Given the description of an element on the screen output the (x, y) to click on. 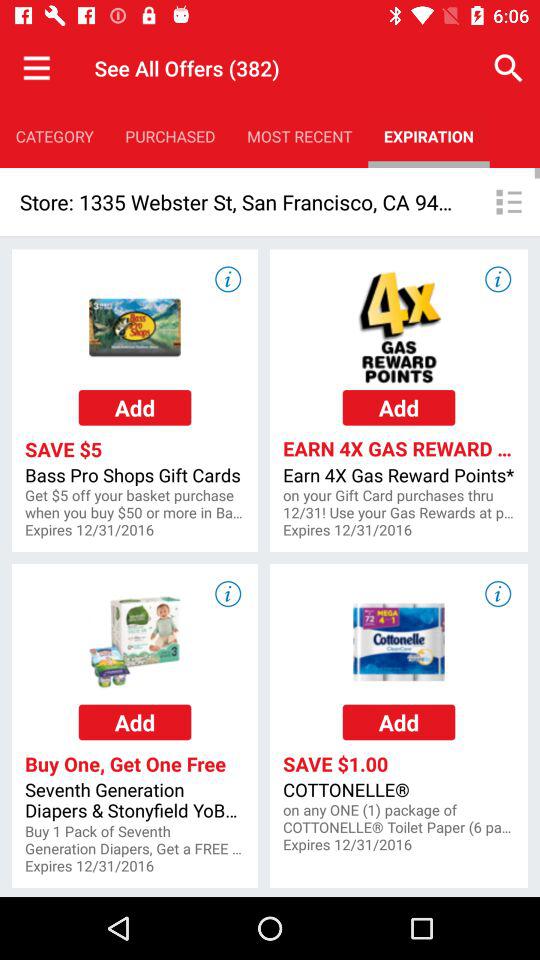
flip to get 5 off icon (134, 504)
